Given the description of an element on the screen output the (x, y) to click on. 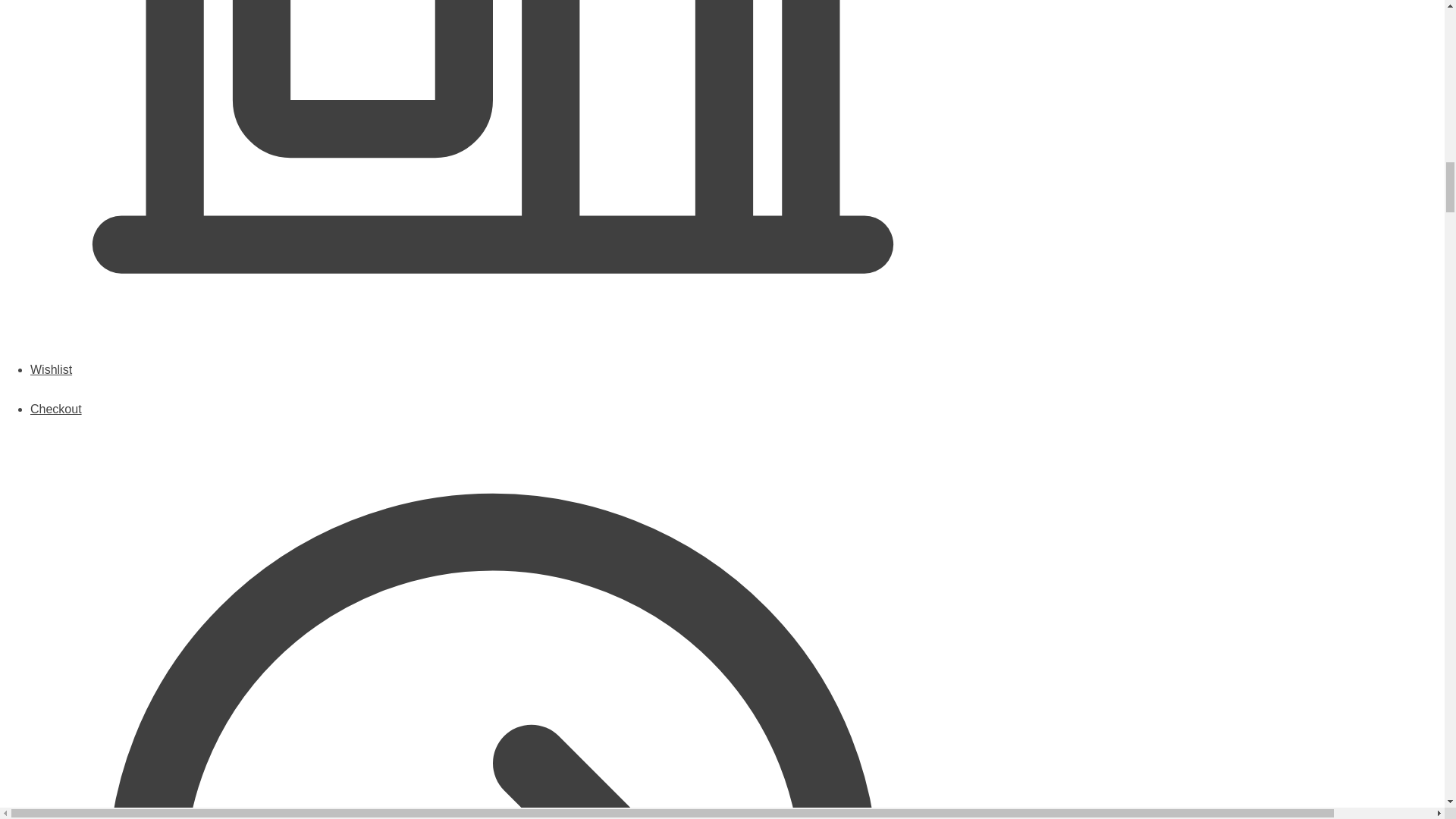
Wishlist (492, 382)
